Given the description of an element on the screen output the (x, y) to click on. 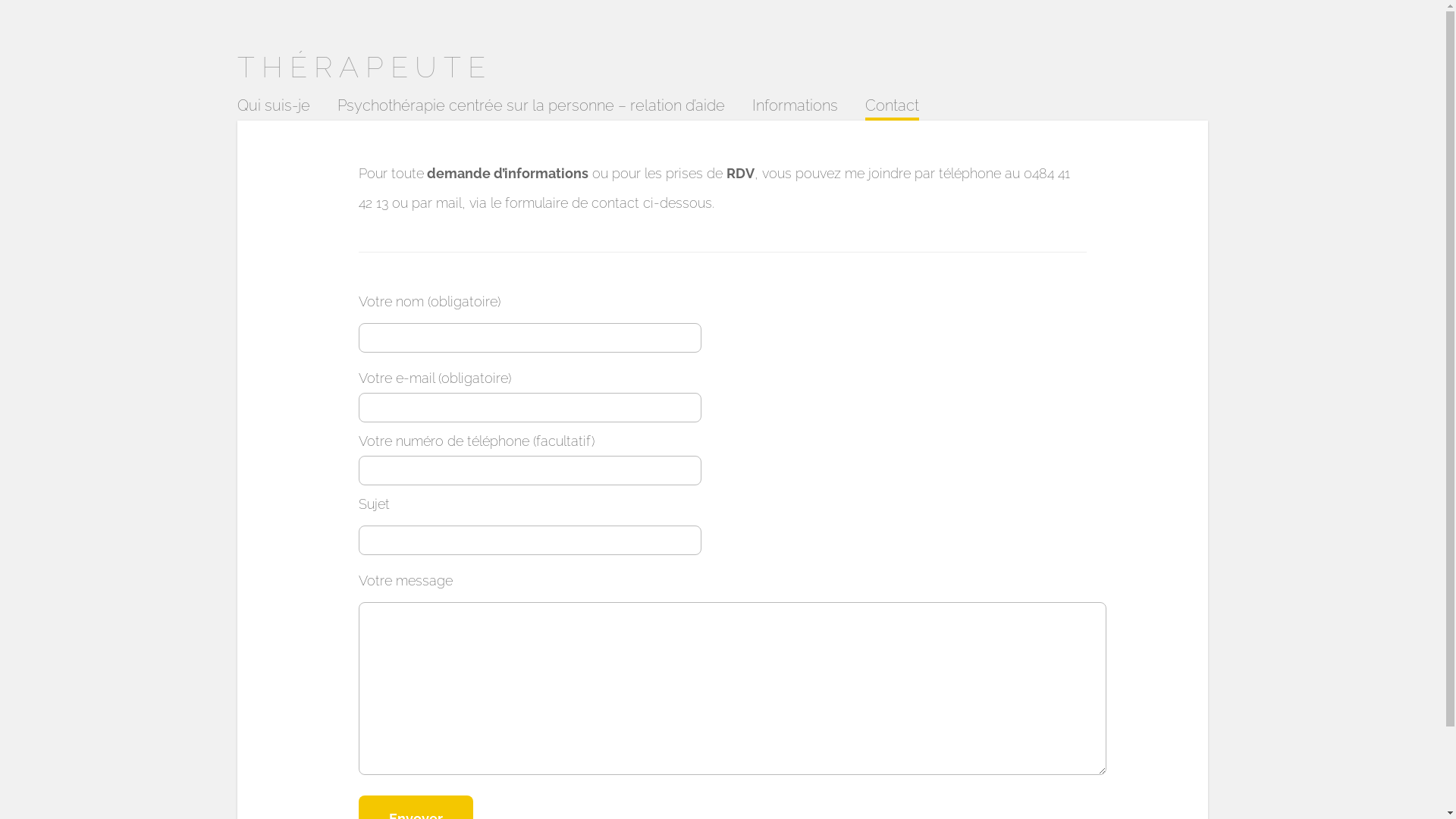
Contact Element type: text (891, 108)
Qui suis-je Element type: text (272, 108)
Rechercher Element type: text (30, 25)
Informations Element type: text (794, 108)
